Given the description of an element on the screen output the (x, y) to click on. 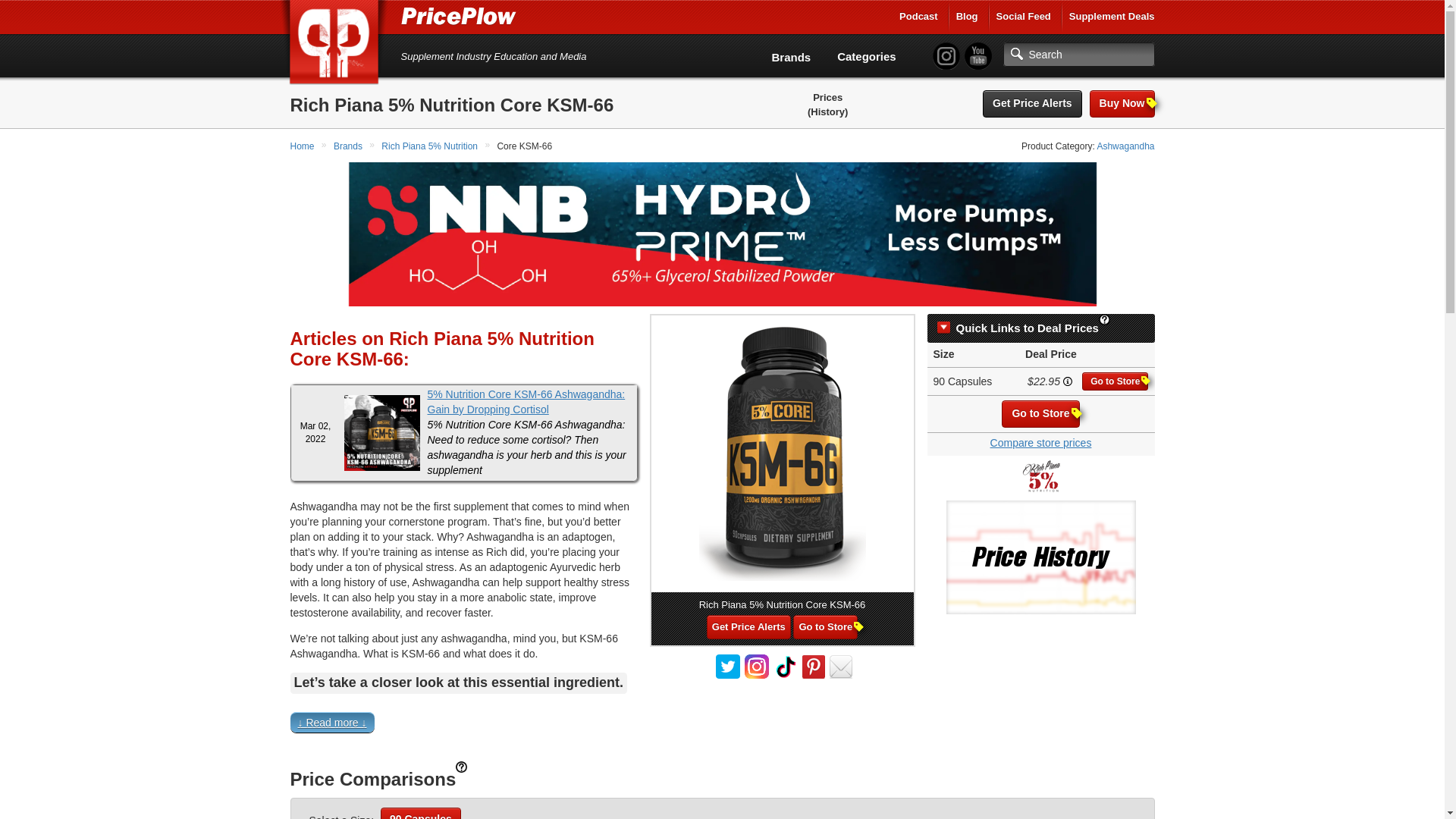
Ashwagandha (1125, 145)
Home (302, 145)
Categories (866, 56)
PricePlow's Latest Social and Media Activity (1023, 16)
See all Brands on PricePlow - Over 1200 of them! (790, 57)
Subscribe to our YouTube Channel! (977, 56)
Compare store prices (1041, 442)
Buy Now (1121, 103)
Brands (349, 145)
Podcast (918, 16)
Get Price Alerts (1031, 103)
Go to Store (1039, 413)
Listen to the PricePlow Podcast! (918, 16)
Blog (967, 16)
